Given the description of an element on the screen output the (x, y) to click on. 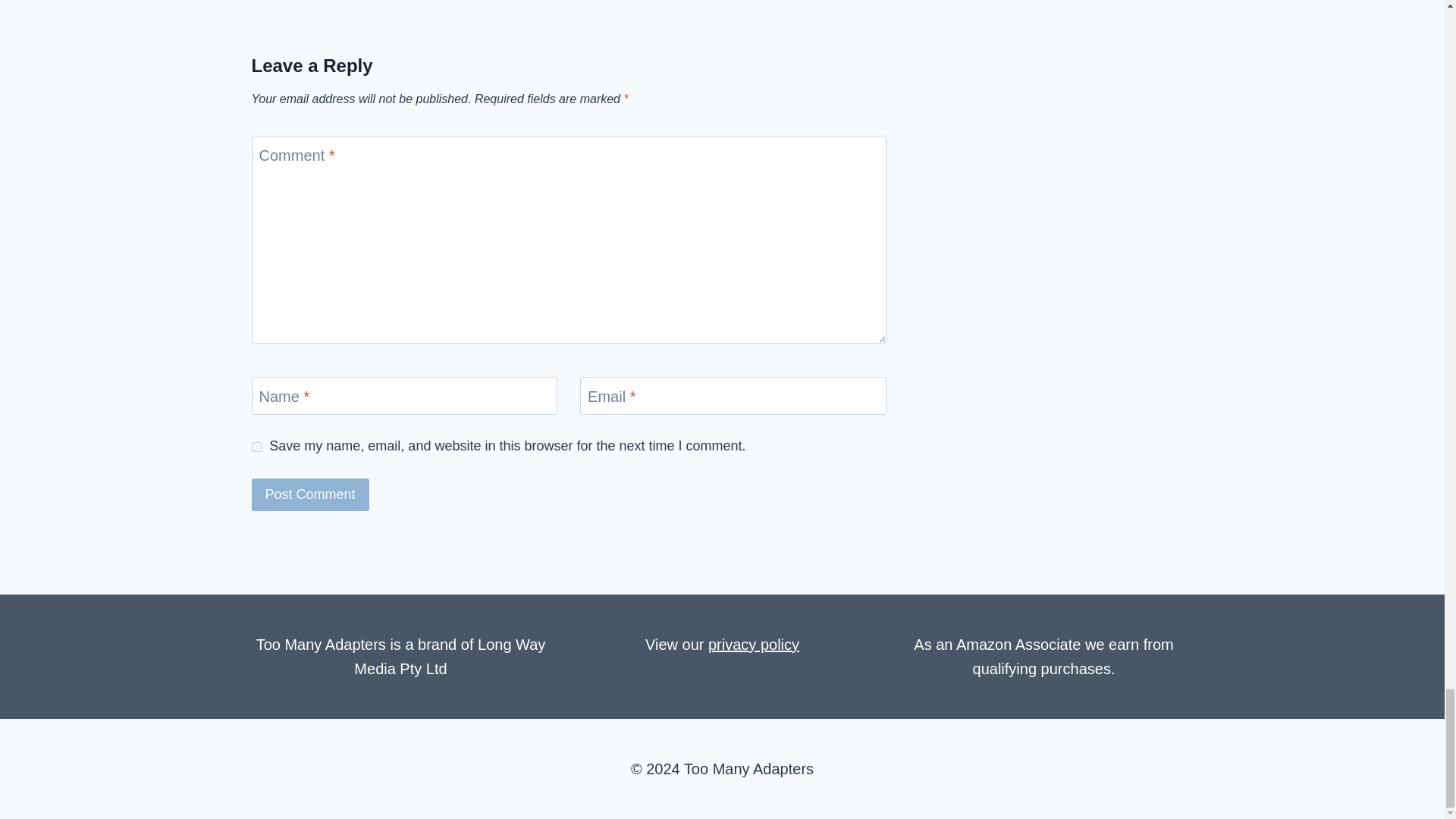
Post Comment (310, 494)
yes (256, 447)
